Given the description of an element on the screen output the (x, y) to click on. 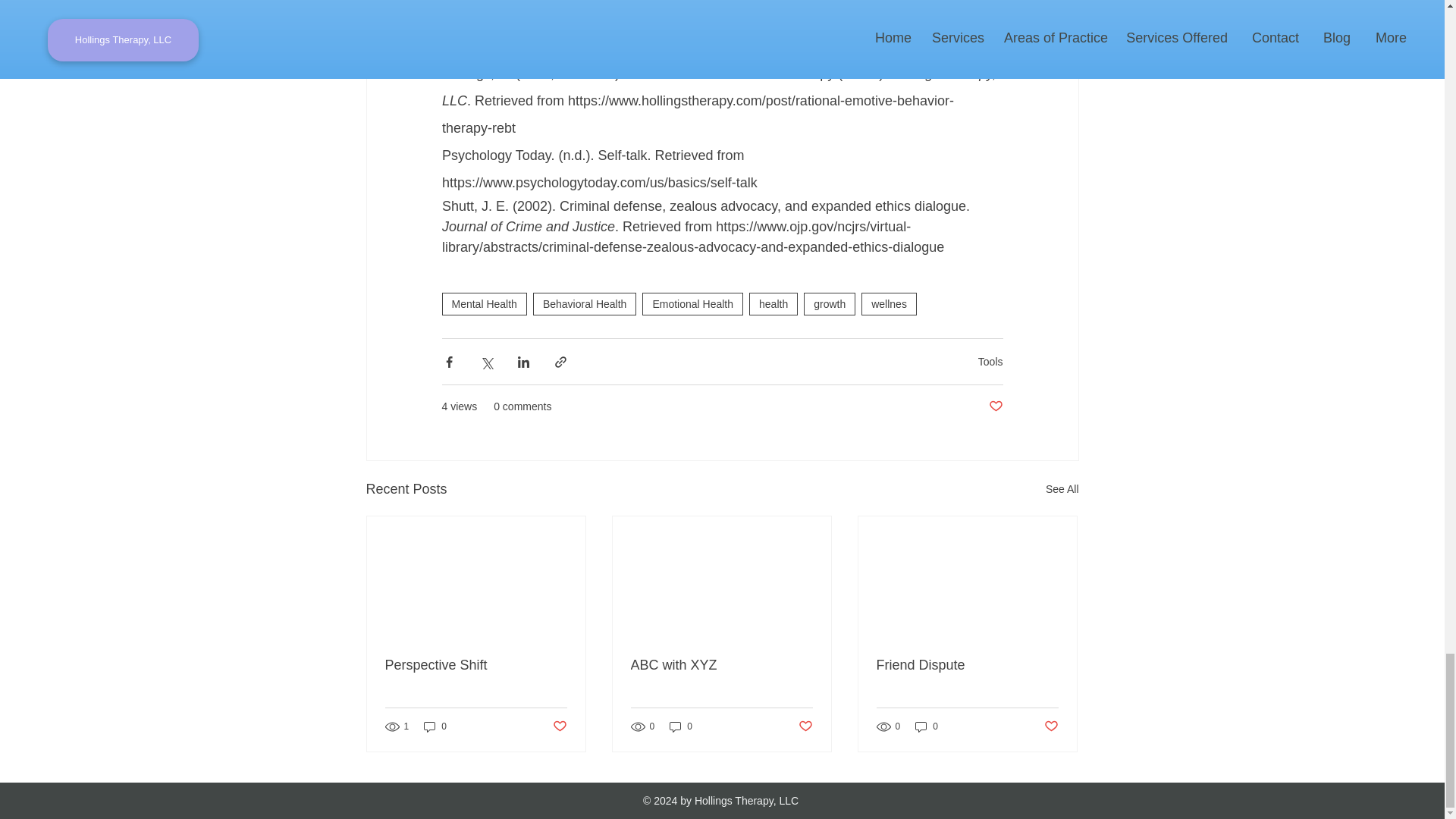
health (773, 303)
growth (829, 303)
Mental Health (483, 303)
Emotional Health (692, 303)
Tools (990, 361)
Behavioral Health (584, 303)
wellnes (889, 303)
